Given the description of an element on the screen output the (x, y) to click on. 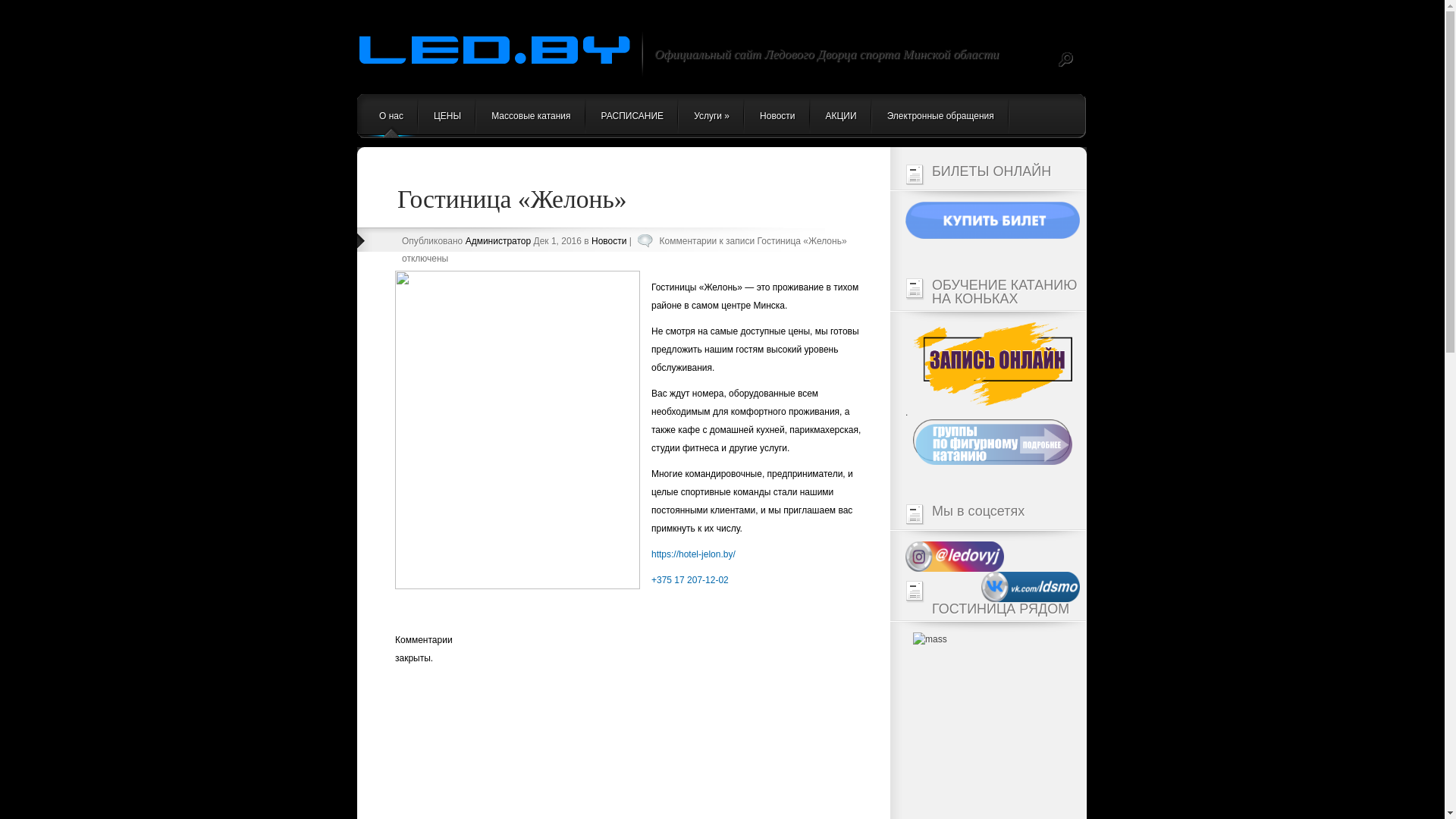
https://hotel-jelon.by/ Element type: text (693, 554)
+375 17 207-12-02 Element type: text (689, 579)
